Given the description of an element on the screen output the (x, y) to click on. 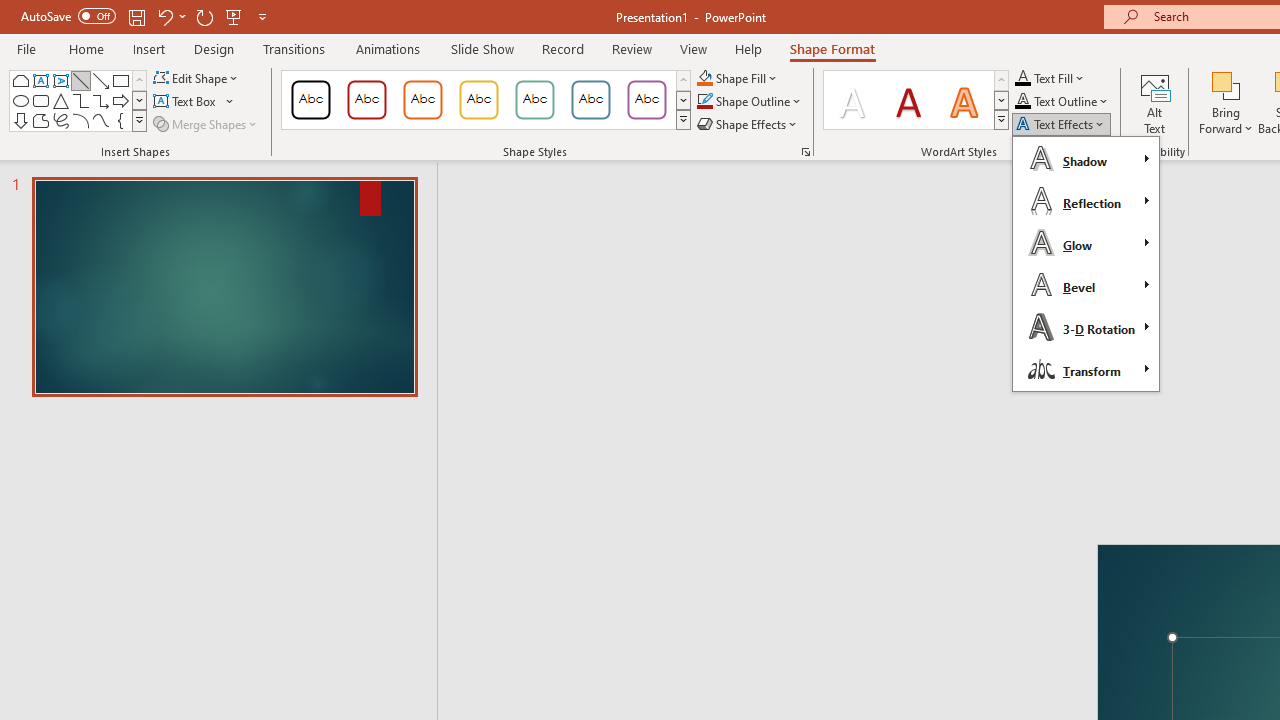
Text Fill (1050, 78)
Text Fill RGB(0, 0, 0) (1023, 78)
Fill: Dark Red, Accent color 1; Shadow (908, 100)
AutomationID: TextStylesGallery (916, 99)
